Given the description of an element on the screen output the (x, y) to click on. 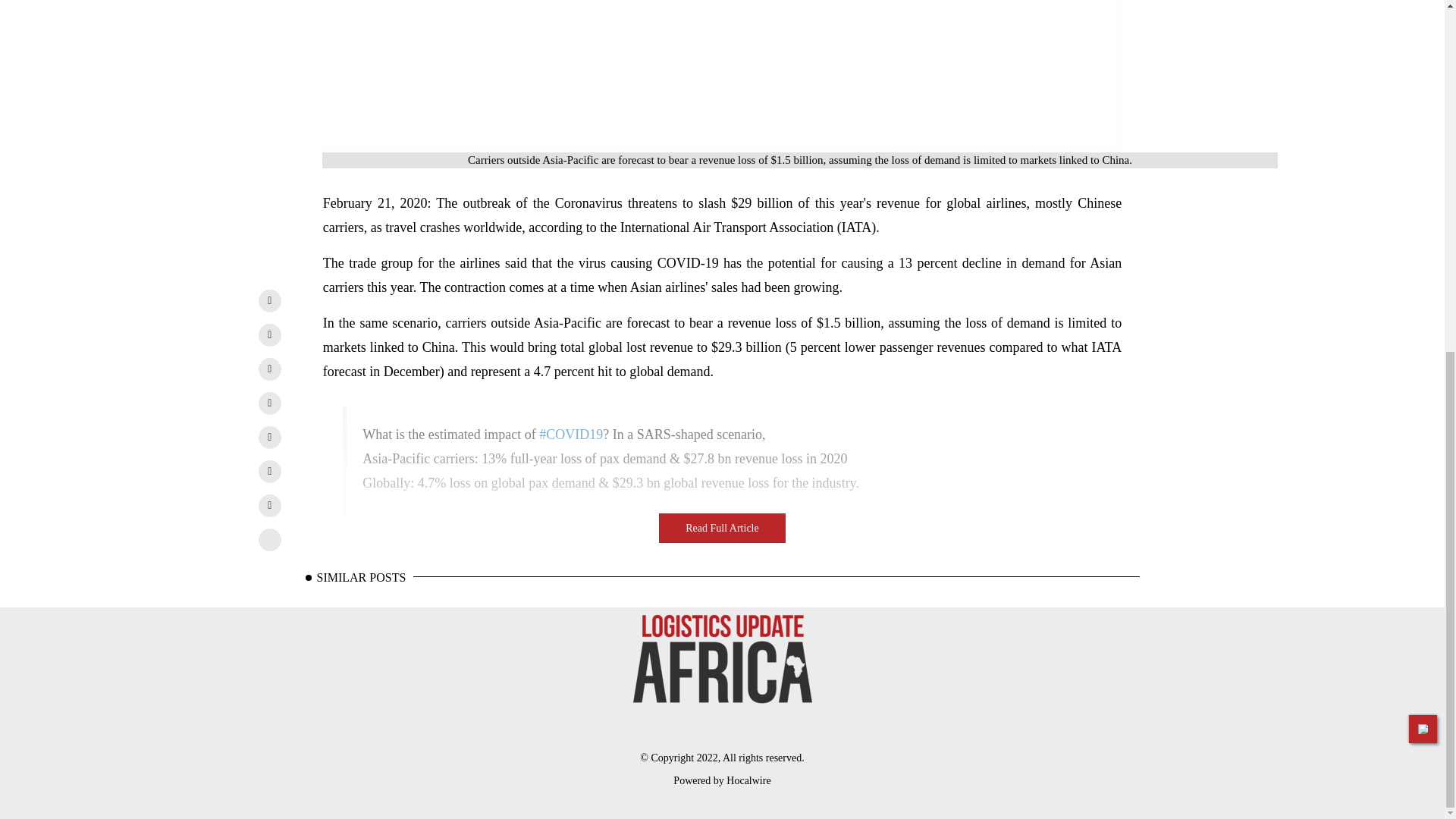
koo (270, 539)
whatsapp (270, 403)
Logistics Update Africa (721, 660)
Print (270, 505)
facebook (270, 368)
twitter (270, 334)
telegram (270, 436)
Share by Email (270, 471)
LinkedIn (270, 300)
